Given the description of an element on the screen output the (x, y) to click on. 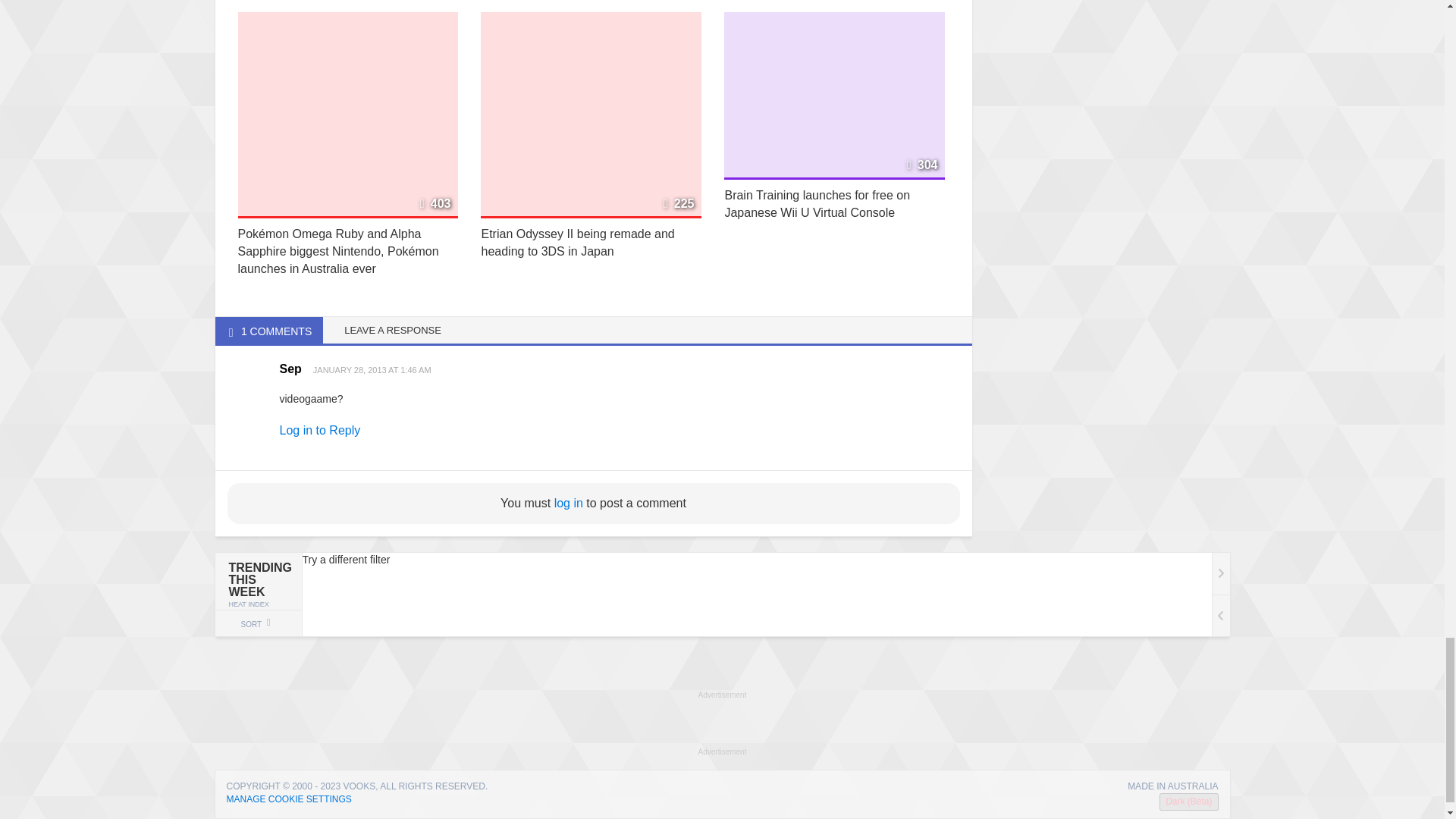
Try a different filter (764, 595)
Try a different filter (722, 594)
